Given the description of an element on the screen output the (x, y) to click on. 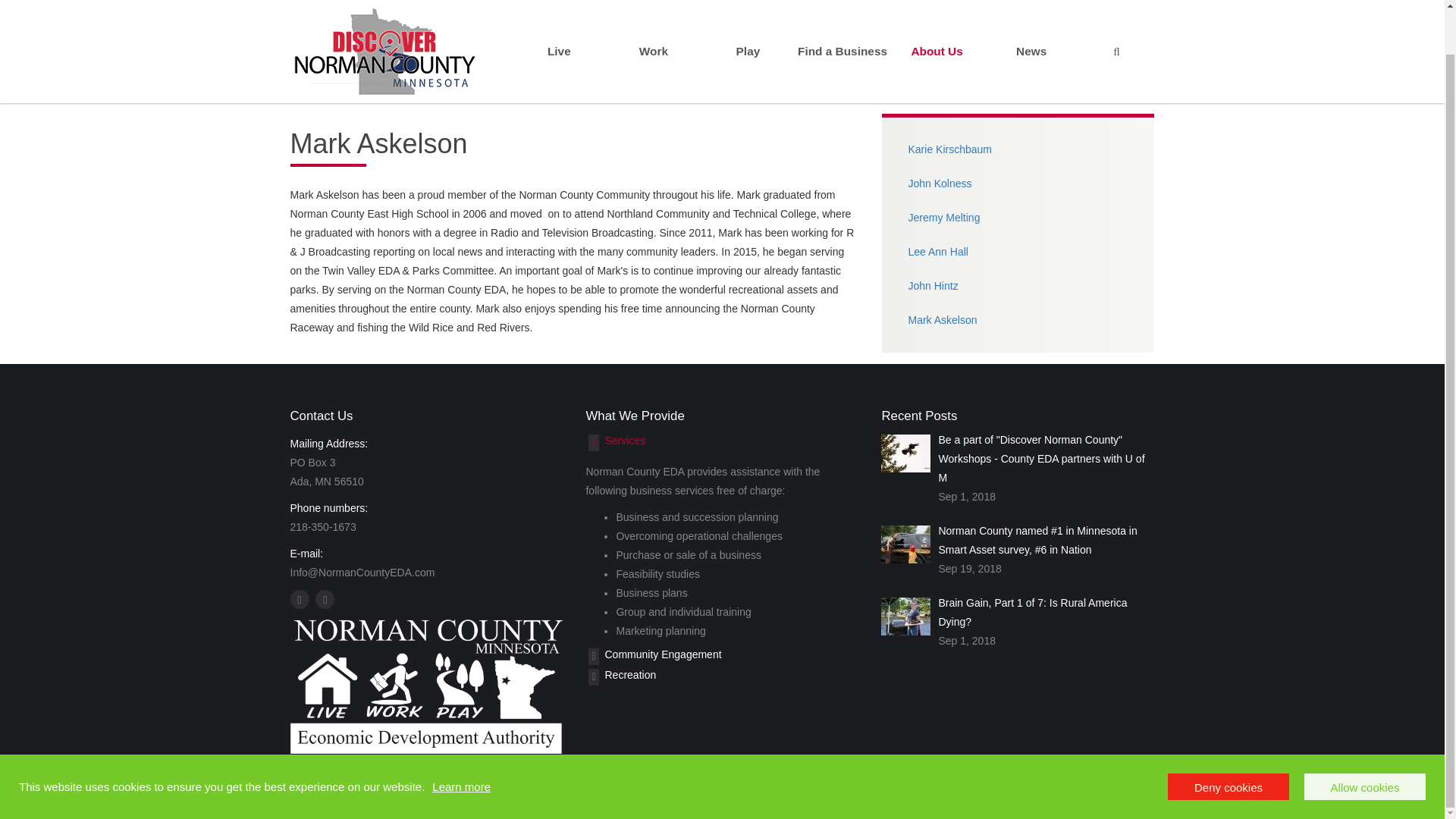
Find a Business (841, 28)
Allow cookies (1364, 739)
Learn more (461, 739)
Deny cookies (1227, 739)
About Us (936, 28)
Play (747, 28)
Live (559, 28)
Work (654, 28)
News (1031, 28)
